Given the description of an element on the screen output the (x, y) to click on. 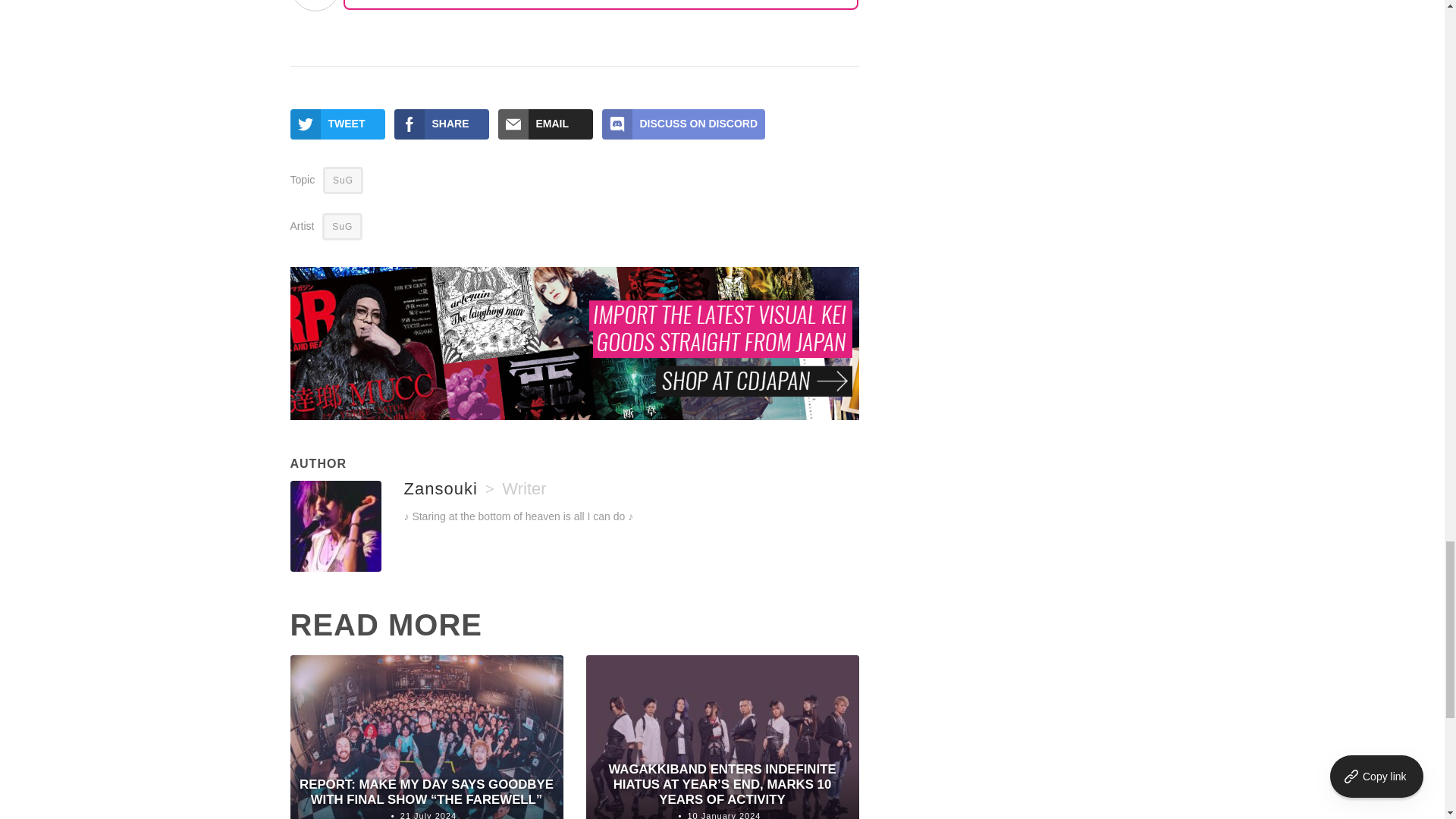
Discuss on discord (683, 124)
Tweet it (336, 124)
Share on Facebook (441, 124)
Share via e-mail (544, 124)
